Given the description of an element on the screen output the (x, y) to click on. 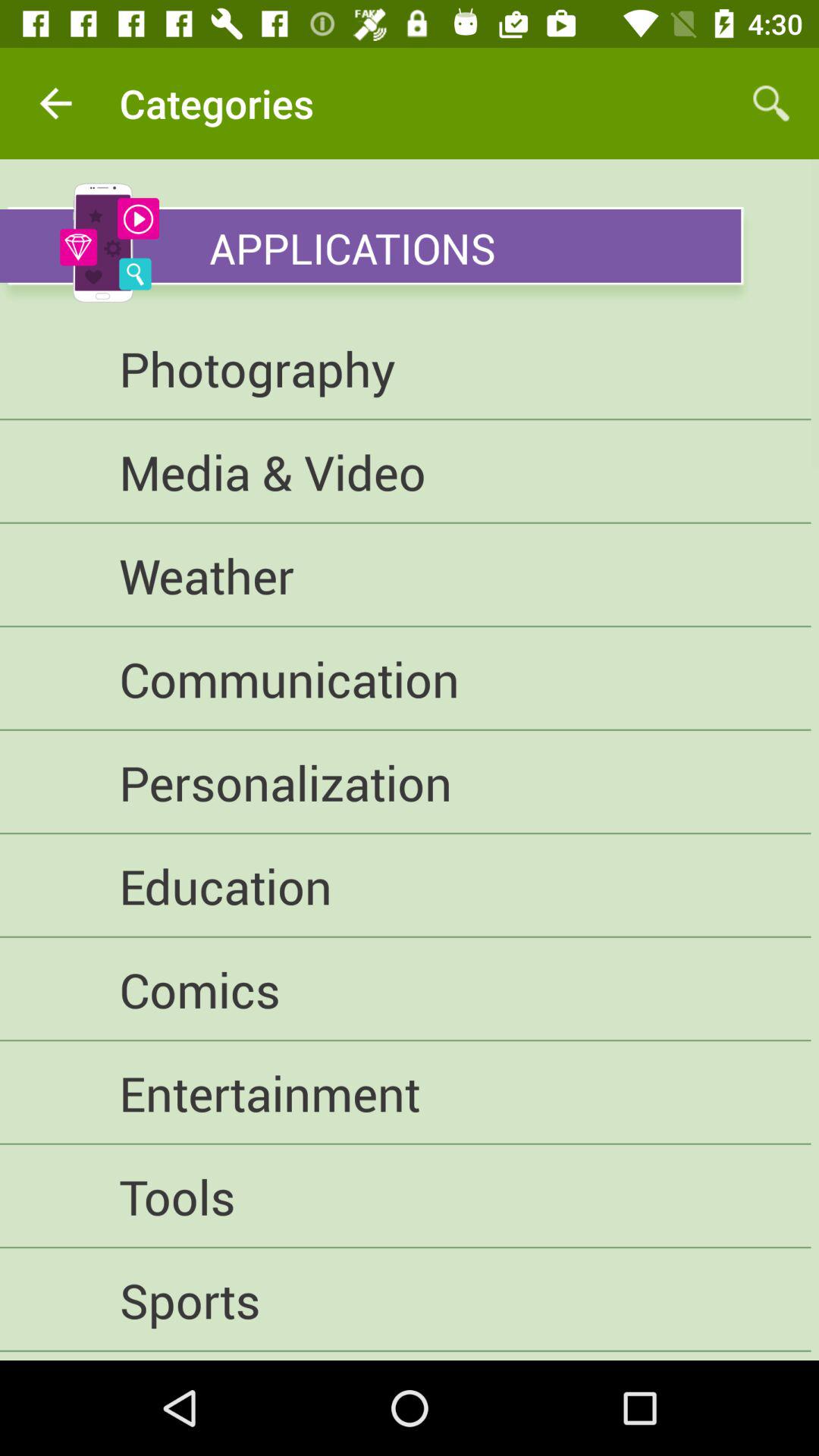
select the icon above the media & video (405, 368)
